Given the description of an element on the screen output the (x, y) to click on. 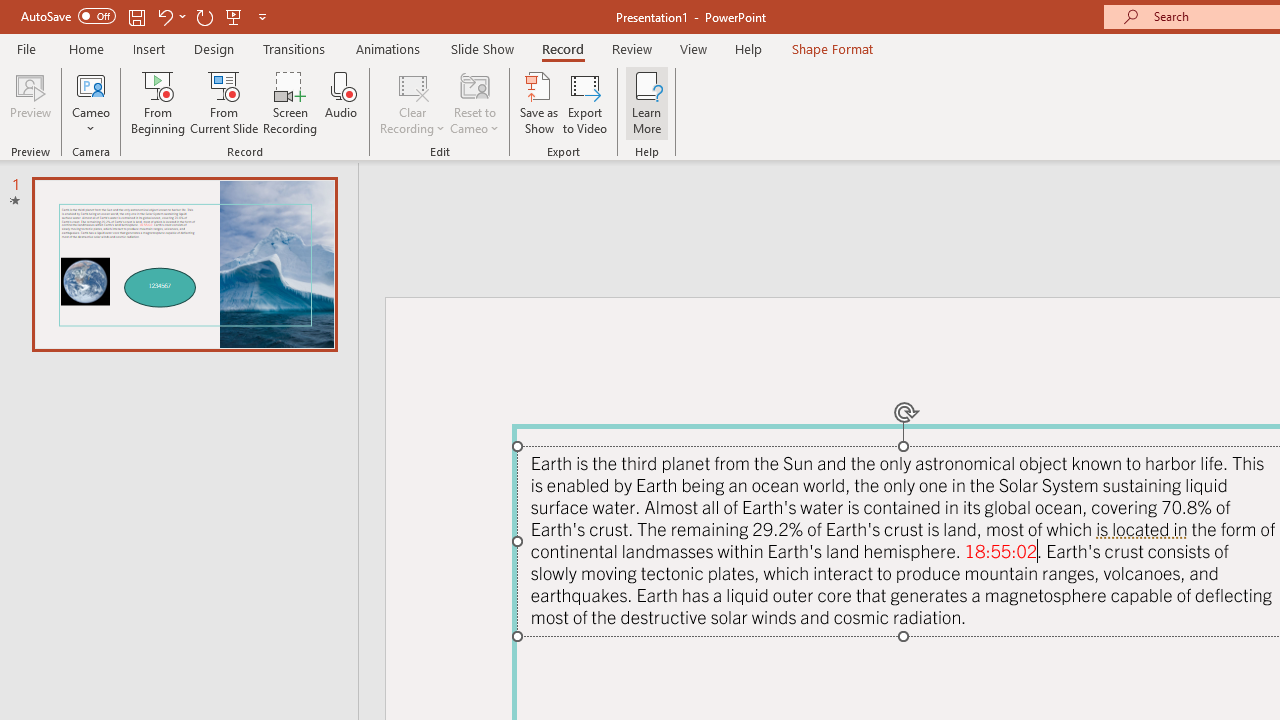
From Beginning... (158, 102)
Clear Recording (412, 102)
Save as Show (539, 102)
